Given the description of an element on the screen output the (x, y) to click on. 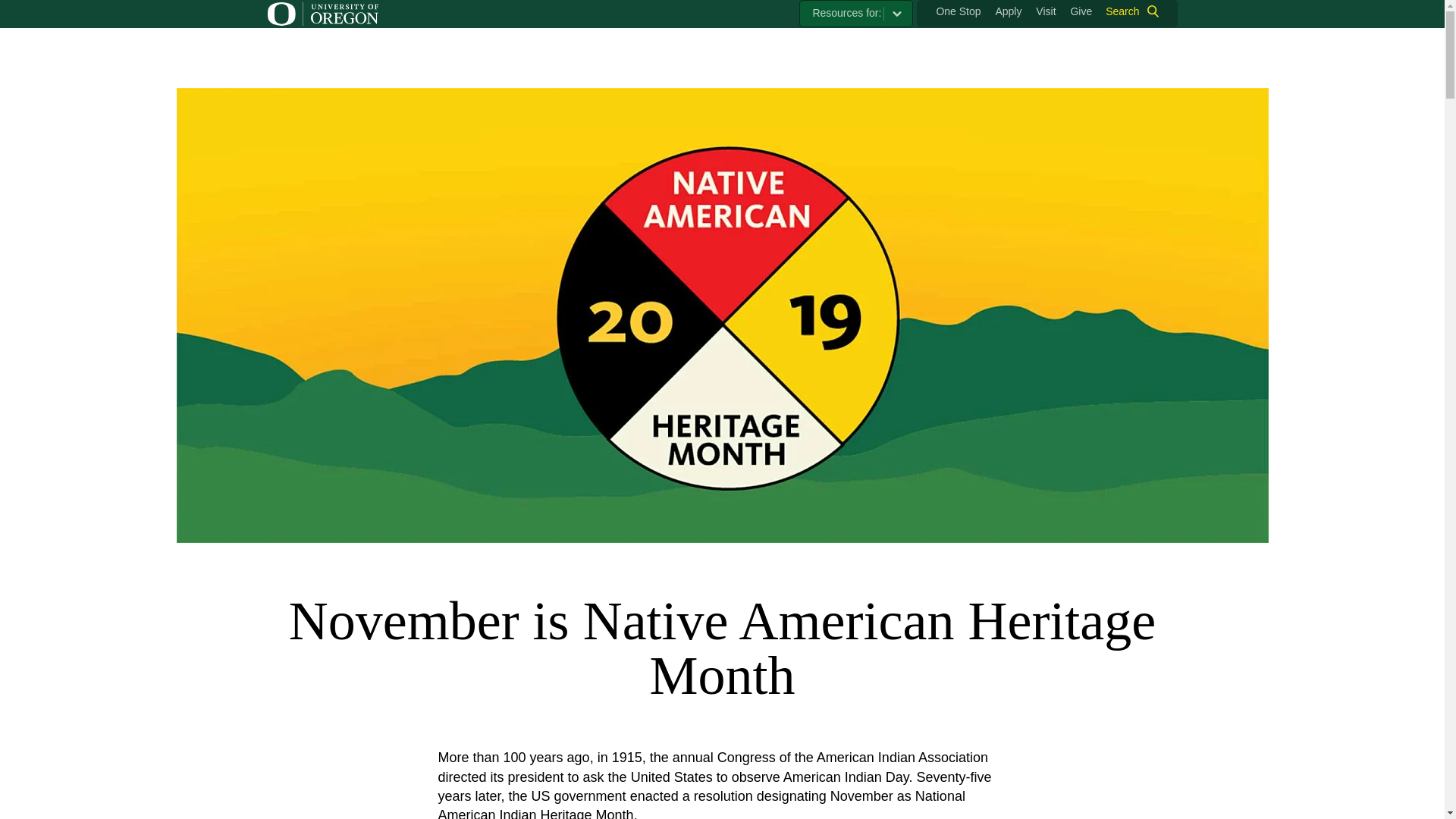
Resources for: (855, 13)
Apply (1008, 10)
One Stop (957, 10)
Search (1128, 11)
Visit (1045, 10)
Give (1081, 10)
